Given the description of an element on the screen output the (x, y) to click on. 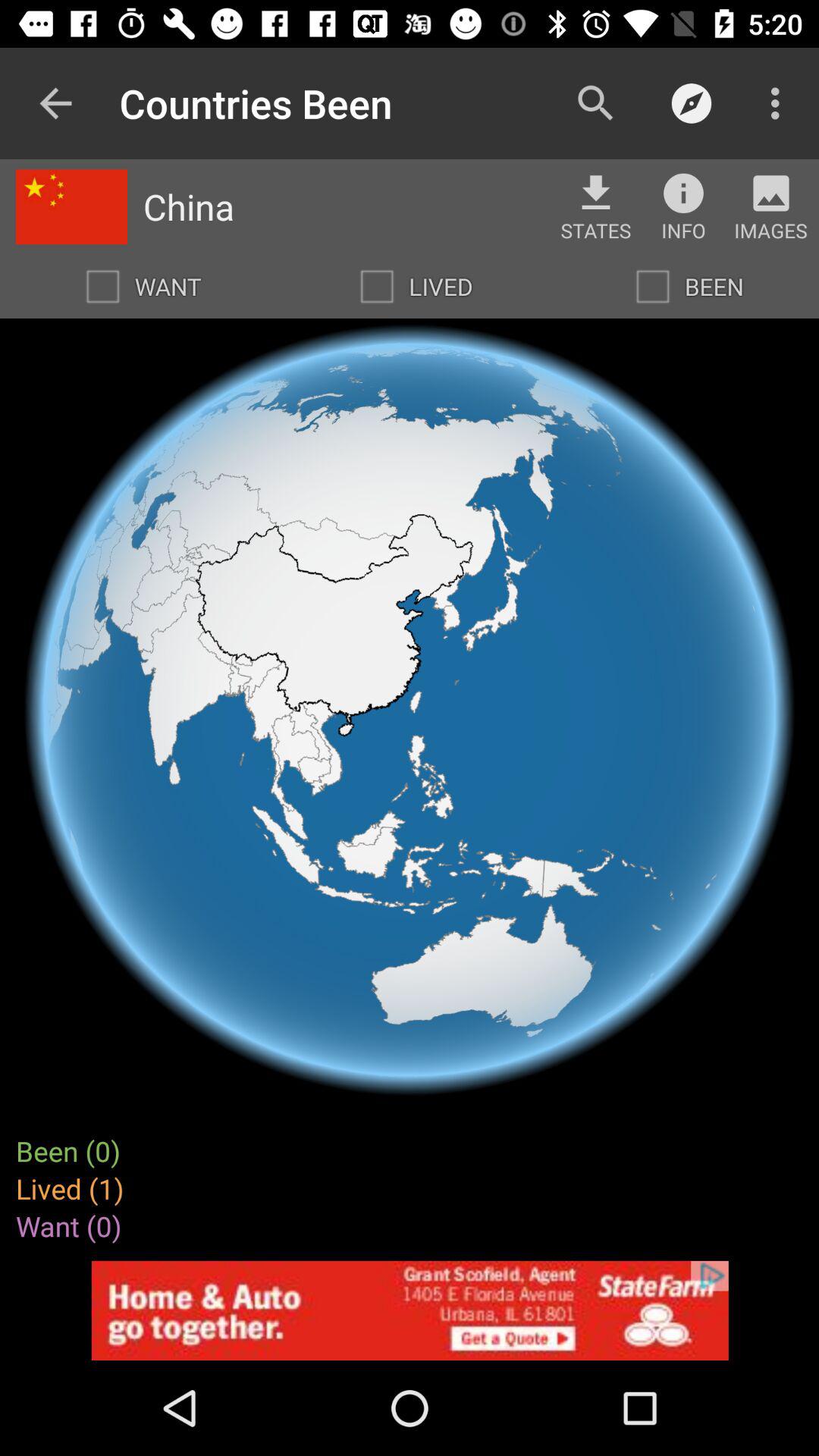
select want (102, 286)
